Given the description of an element on the screen output the (x, y) to click on. 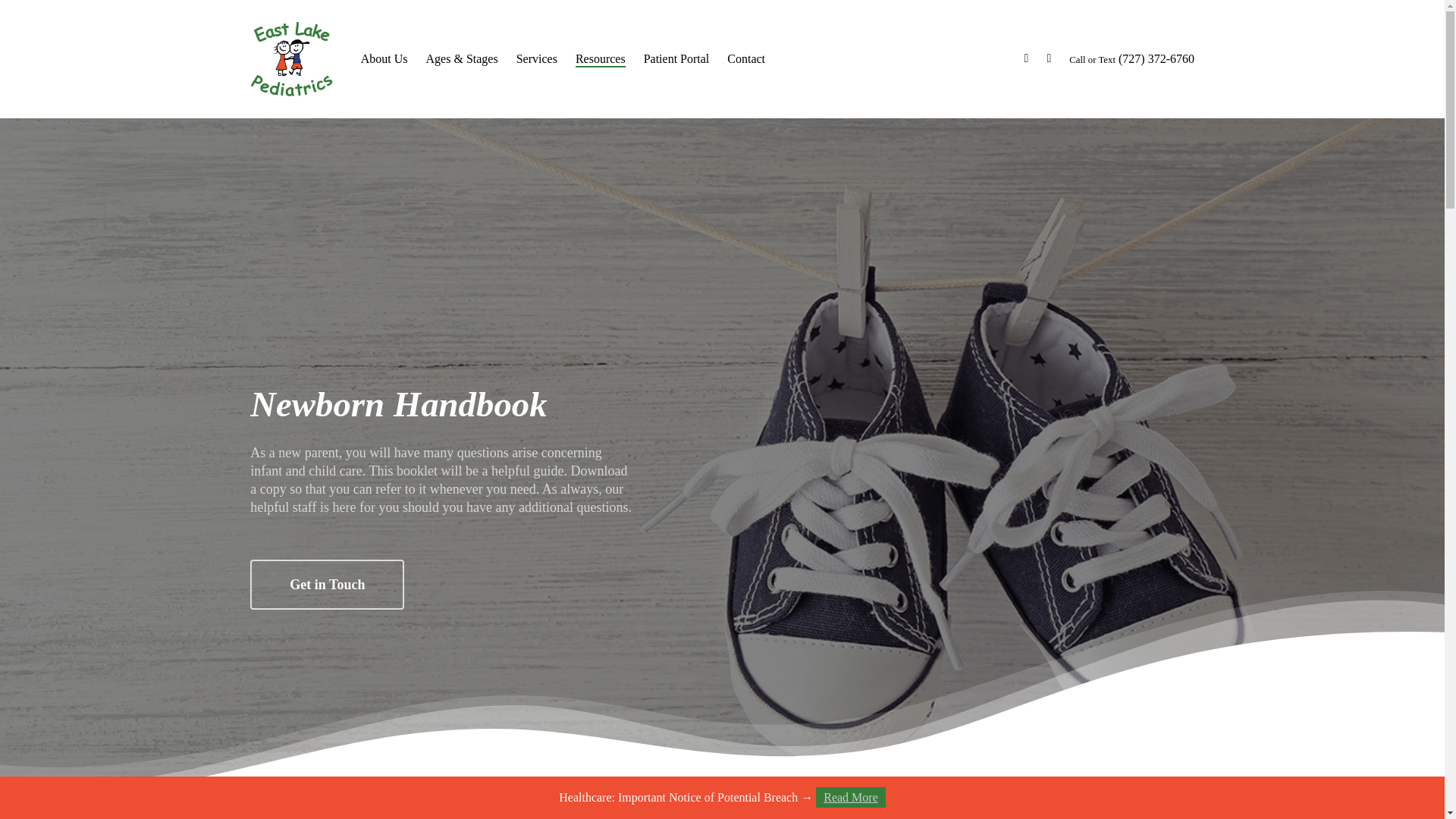
Services (536, 59)
Resources (600, 59)
About Us (384, 59)
Click to Call (1130, 58)
Contact (745, 59)
Patient Portal (676, 59)
